Given the description of an element on the screen output the (x, y) to click on. 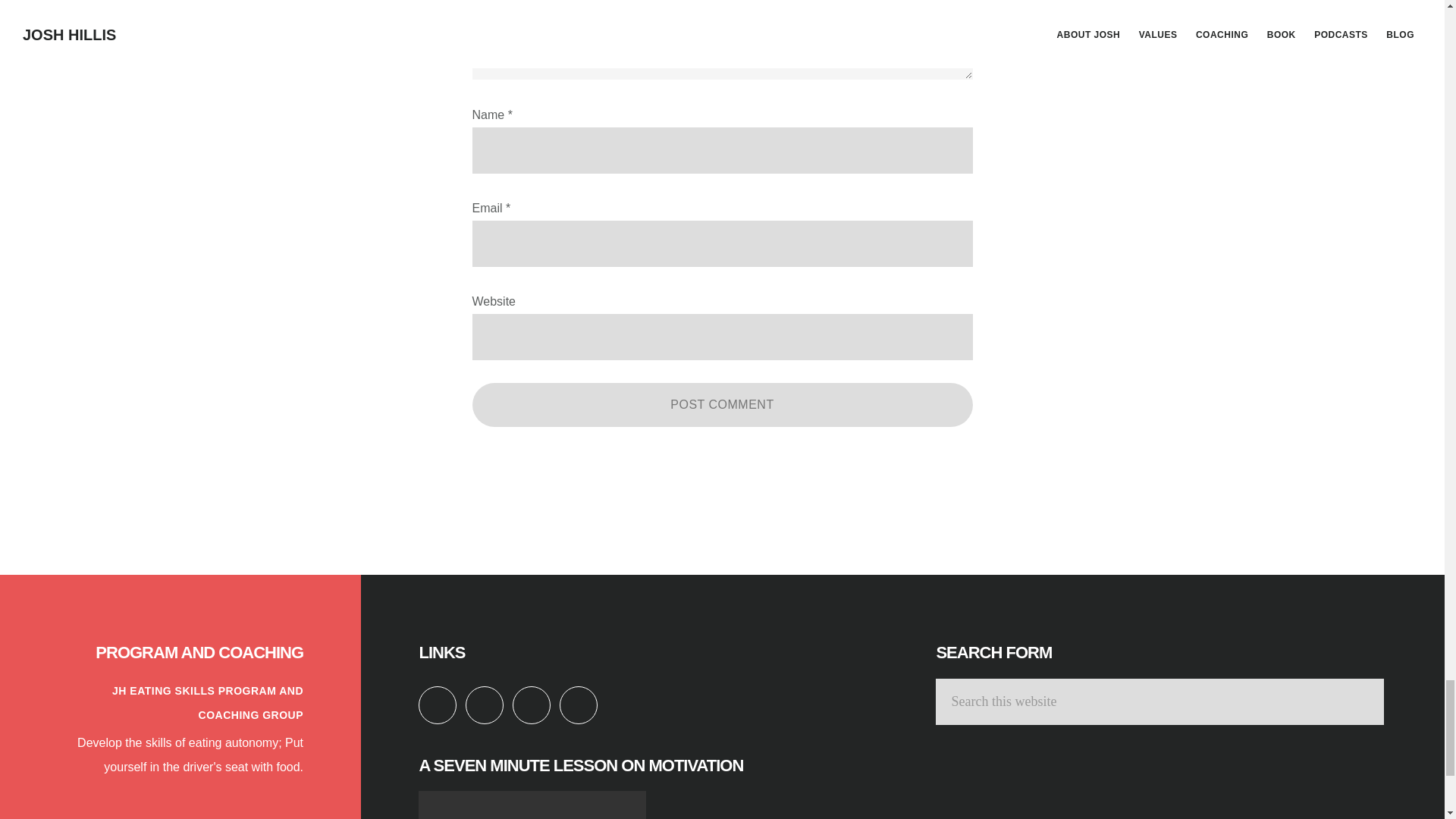
Post Comment (721, 404)
Post Comment (721, 404)
JH EATING SKILLS PROGRAM AND COACHING GROUP (207, 702)
